Given the description of an element on the screen output the (x, y) to click on. 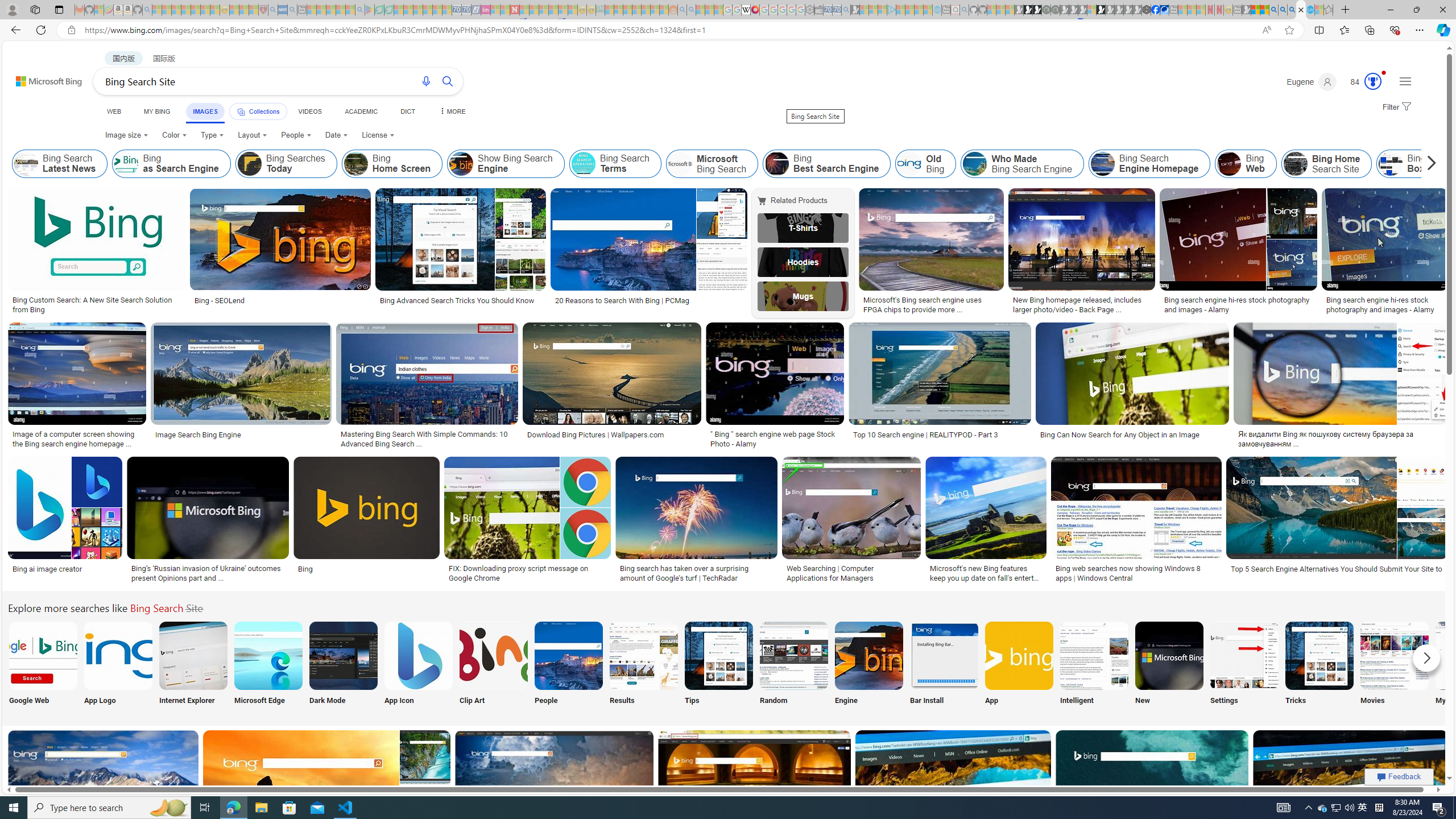
Bing Search Engine Homepage (1149, 163)
" Bing " search engine web page Stock Photo - Alamy (775, 438)
Bing Hoodies (802, 261)
Bing Custom Search: A New Site Search Solution from Bing (96, 304)
Bing Web (1229, 163)
FIX: Downloading proxy script message on Google Chrome (526, 573)
Image Search Bing Engine (241, 434)
Tricks (1319, 665)
Bing Search Tips (718, 654)
